Given the description of an element on the screen output the (x, y) to click on. 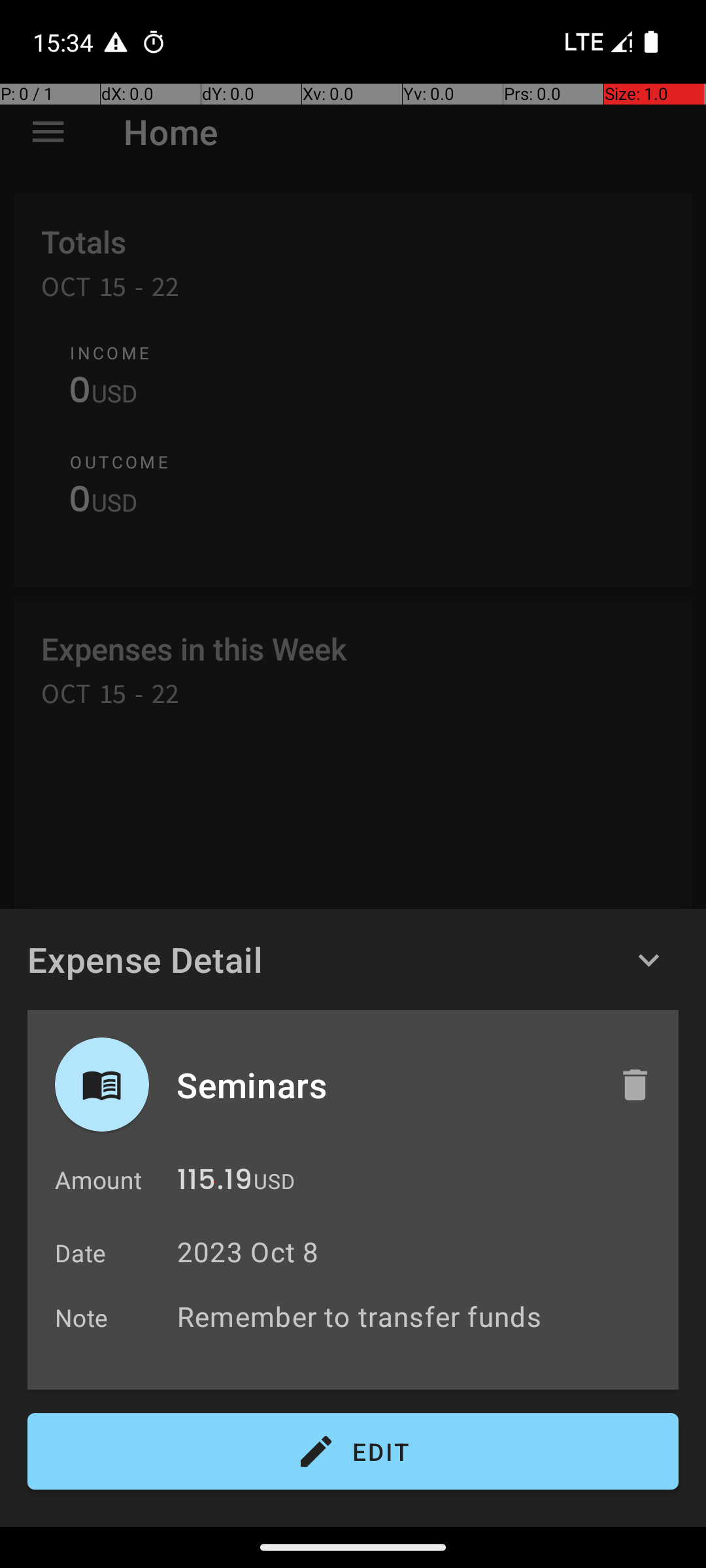
Seminars Element type: android.widget.TextView (383, 1084)
115.19 Element type: android.widget.TextView (214, 1182)
2023 Oct 8 Element type: android.widget.TextView (247, 1251)
Remember to transfer funds Element type: android.widget.TextView (420, 1315)
